Given the description of an element on the screen output the (x, y) to click on. 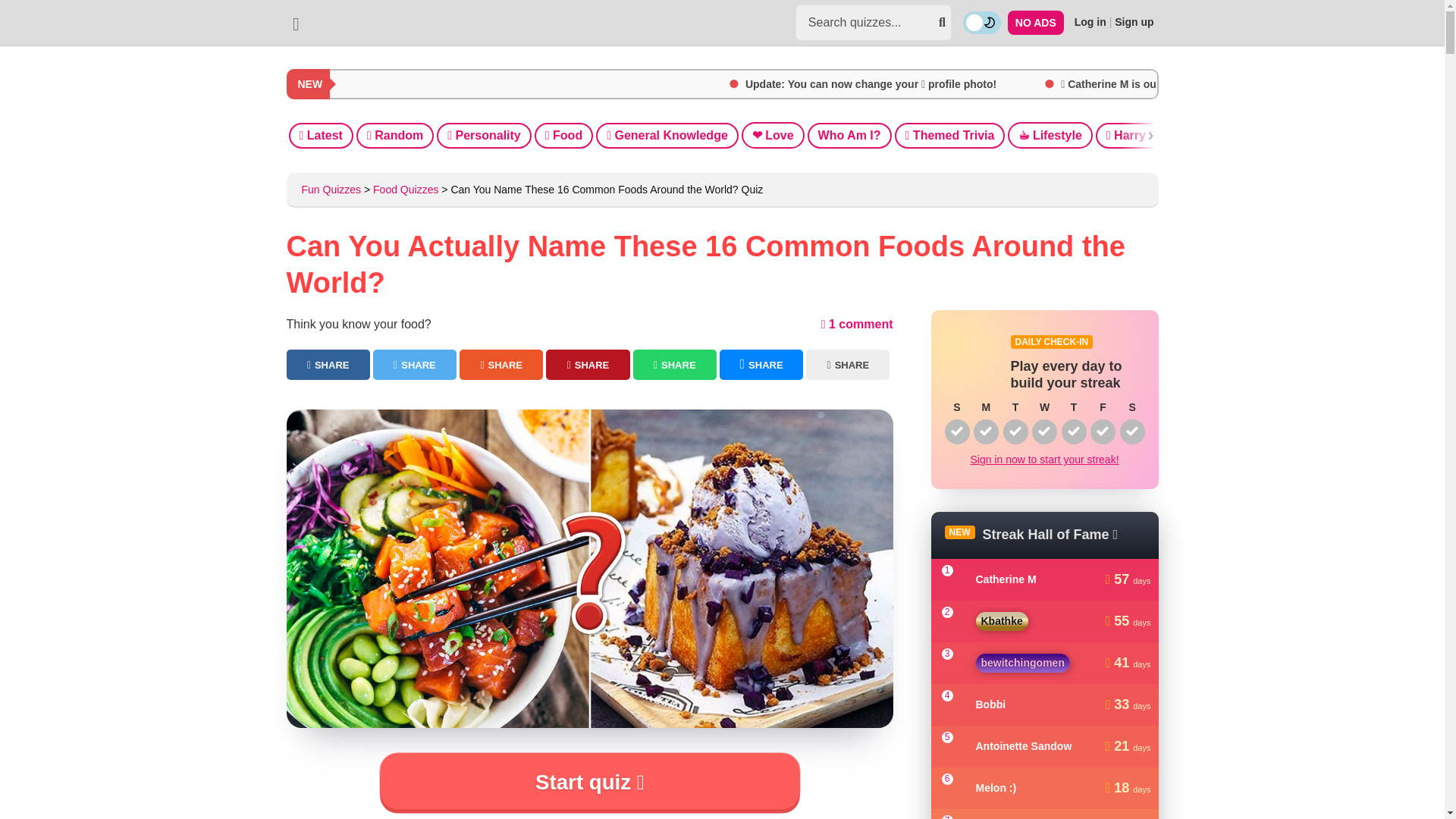
Share this quiz on Facebook (327, 364)
Sign up (1134, 21)
Share this quiz on Twitter (414, 364)
Log in (1090, 21)
Share this quiz on Pinterest (587, 364)
Share this quiz on Reddit (501, 364)
Menu (295, 23)
Text this quiz to a friend (761, 364)
Email this quiz to a friend (847, 364)
NO ADS (1035, 22)
Share this quiz on WhatsApp (674, 364)
